Given the description of an element on the screen output the (x, y) to click on. 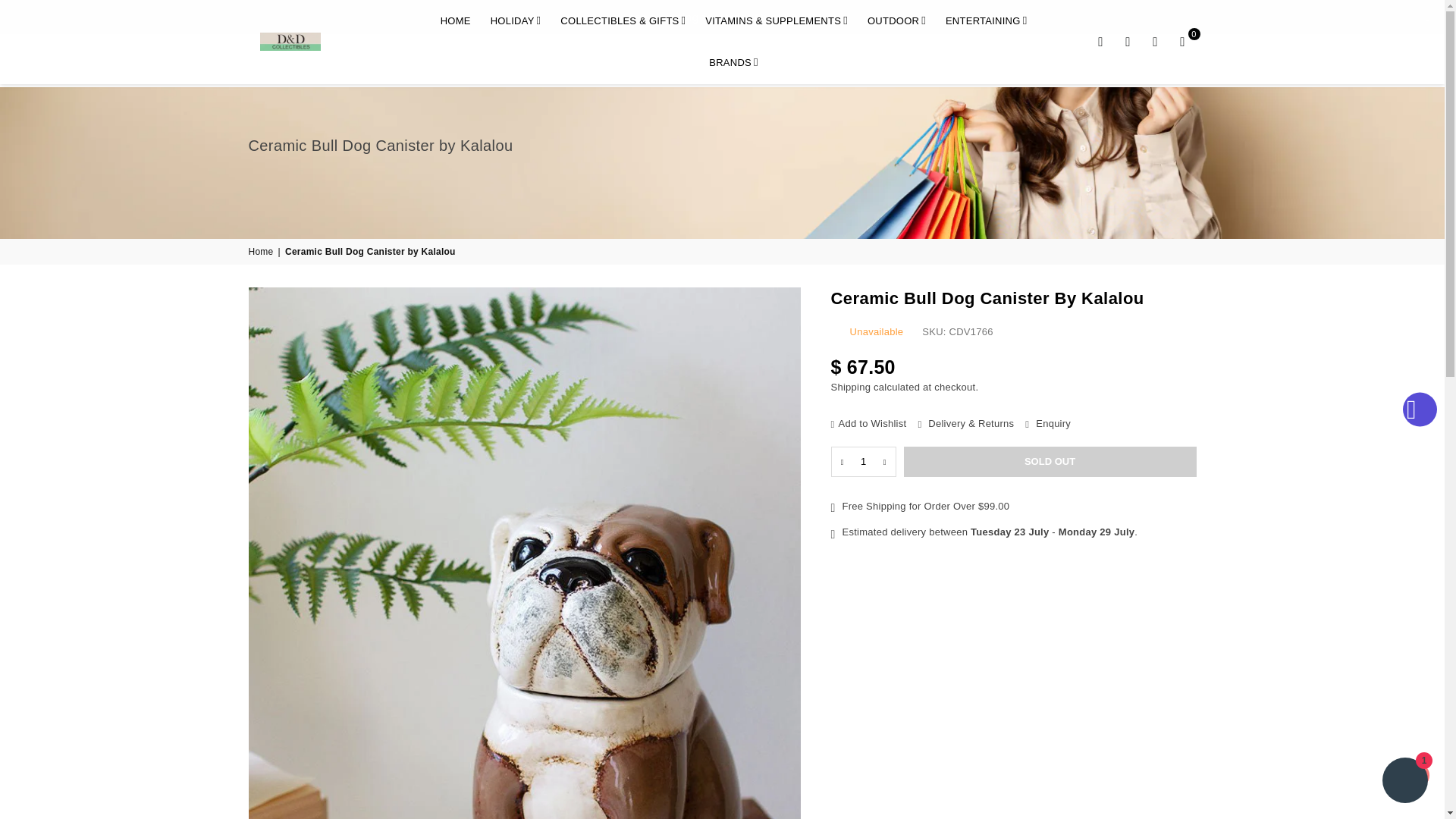
Quantity (863, 461)
HOME (455, 16)
Settings (1128, 41)
Back to the home page (262, 251)
Search (1101, 41)
Wishlist (1155, 41)
Cart (1182, 41)
HOLIDAY (515, 17)
